Given the description of an element on the screen output the (x, y) to click on. 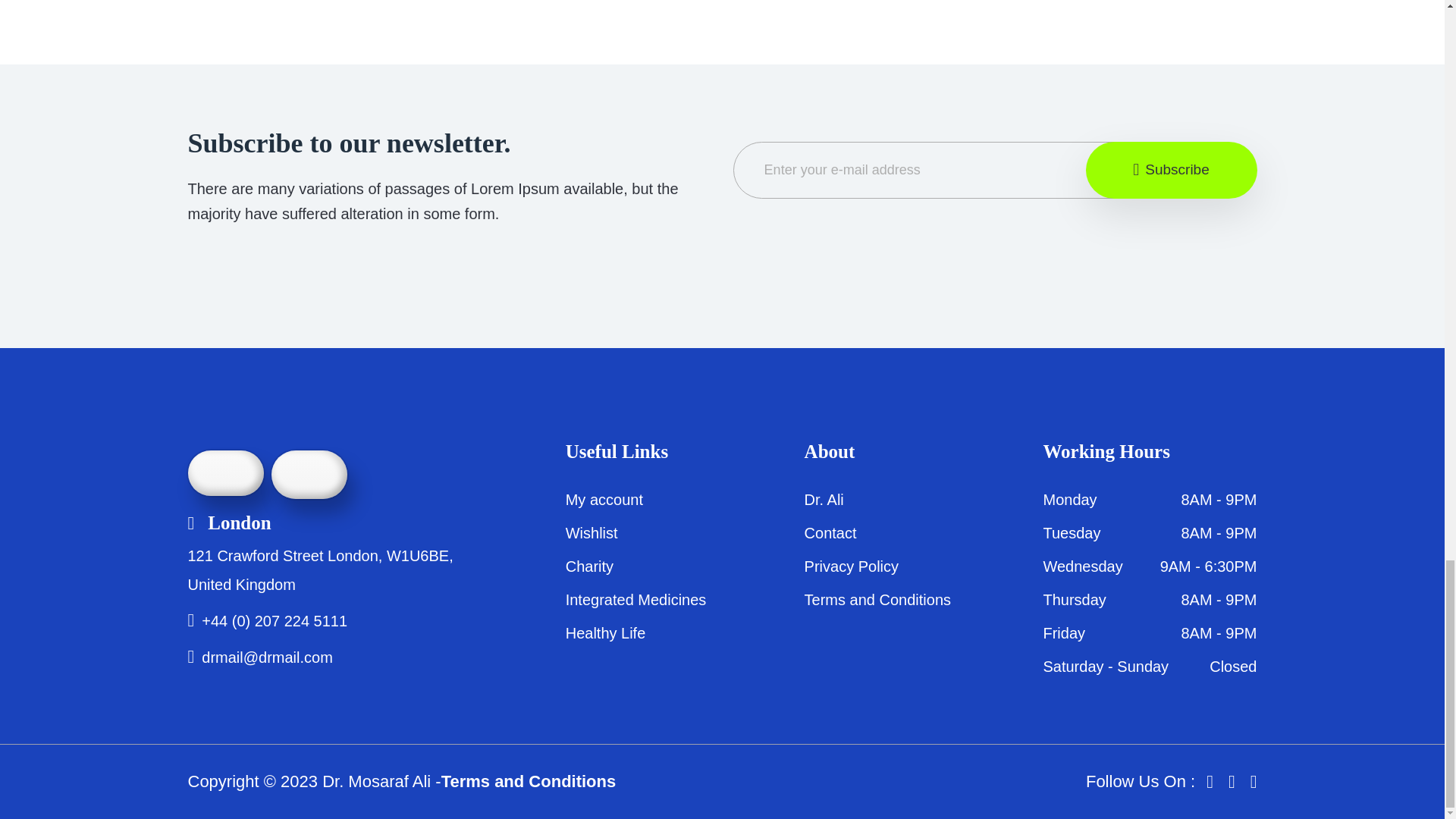
Integrated Medicines (636, 599)
121 Crawford Street London, W1U6BE, United Kingdom (319, 569)
Dr. Ali (824, 499)
Healthy Life (606, 632)
Charity (589, 565)
Contact (831, 532)
Wishlist (591, 532)
London (228, 522)
My account (604, 499)
Subscribe (1171, 170)
